Given the description of an element on the screen output the (x, y) to click on. 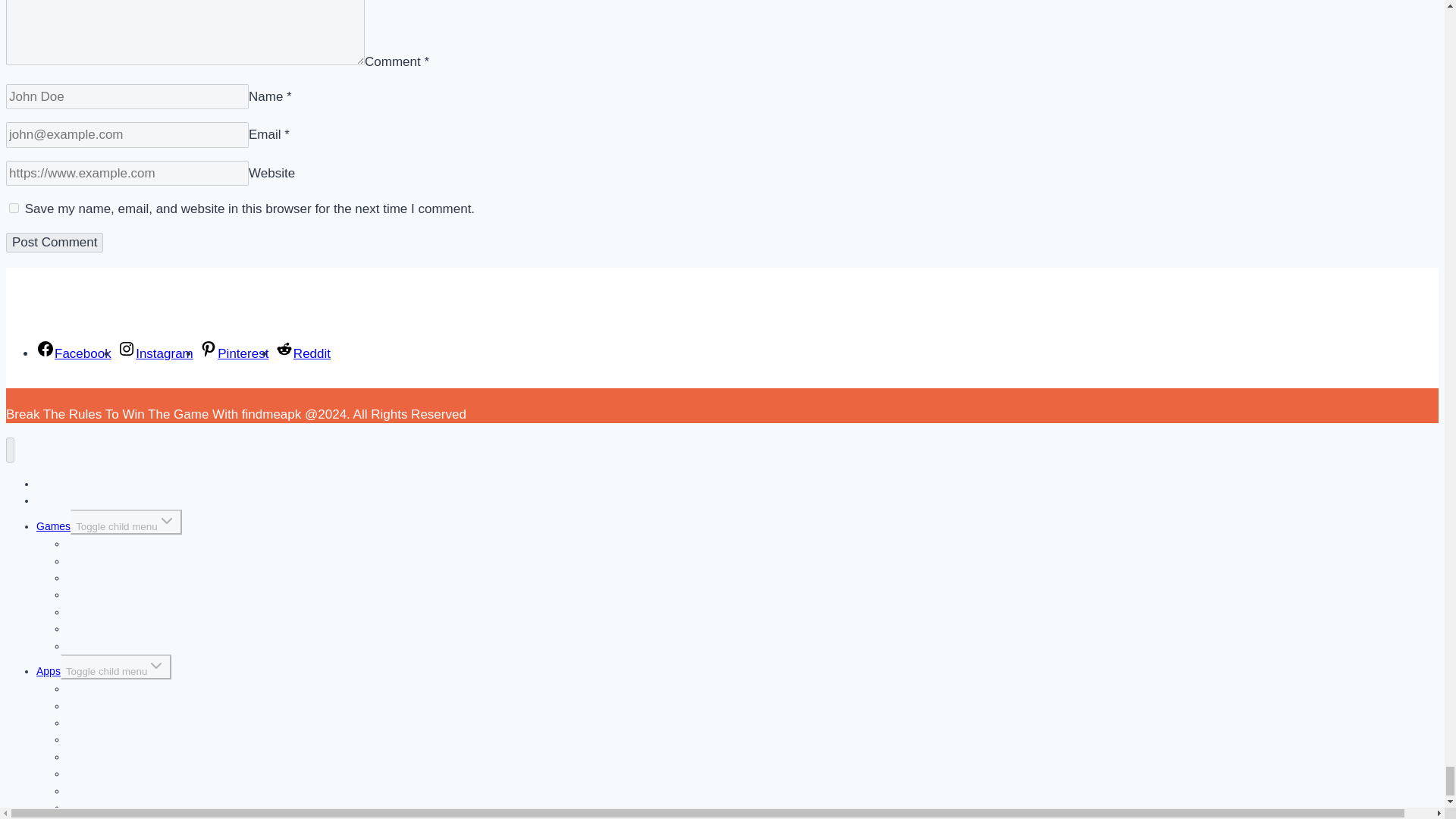
yes (13, 207)
Post Comment (54, 242)
